Given the description of an element on the screen output the (x, y) to click on. 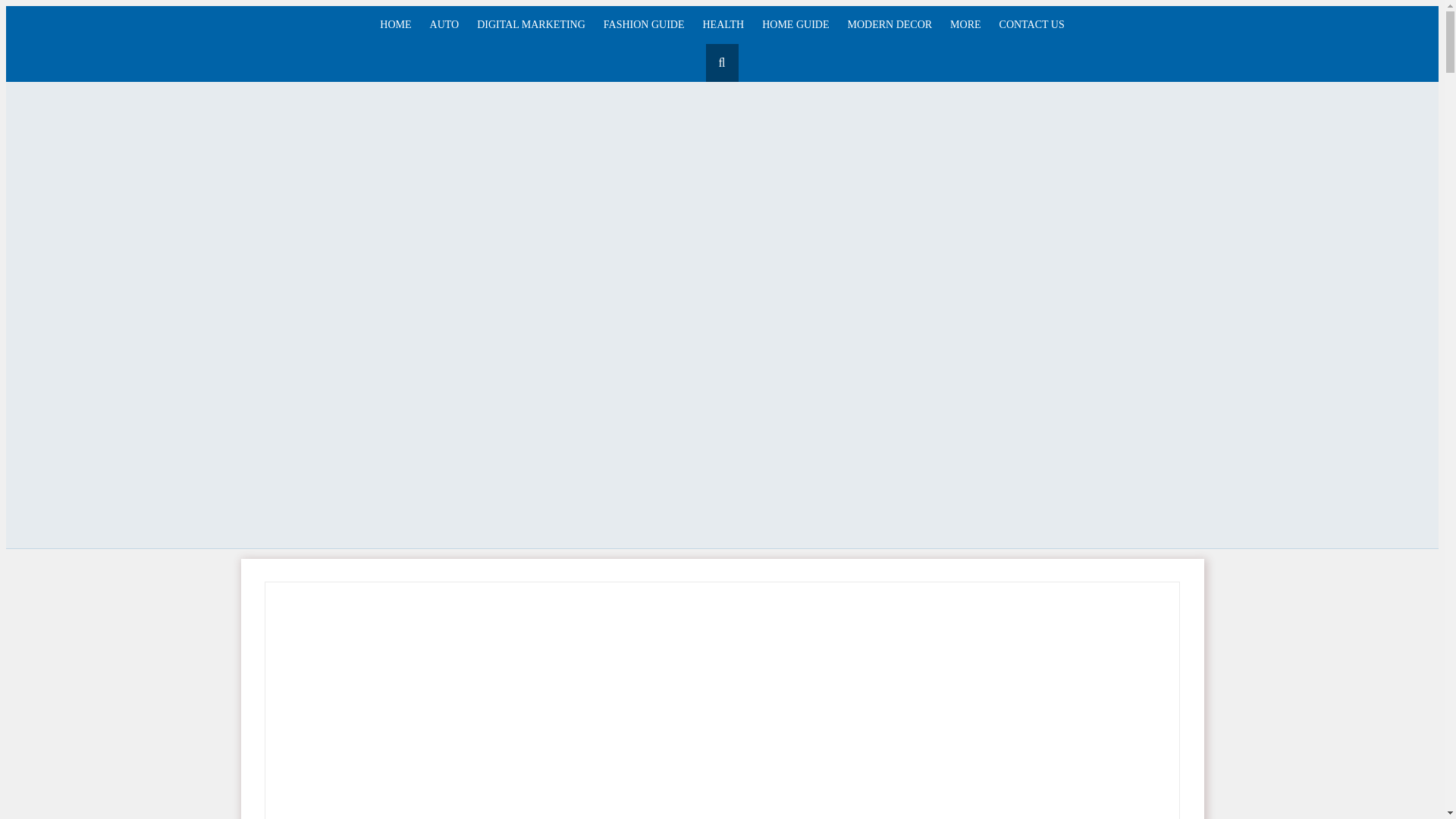
HOME GUIDE (794, 24)
FASHION GUIDE (644, 24)
MODERN DECOR (889, 24)
CONTACT US (1031, 24)
DIGITAL MARKETING (531, 24)
HEALTH (722, 24)
